Given the description of an element on the screen output the (x, y) to click on. 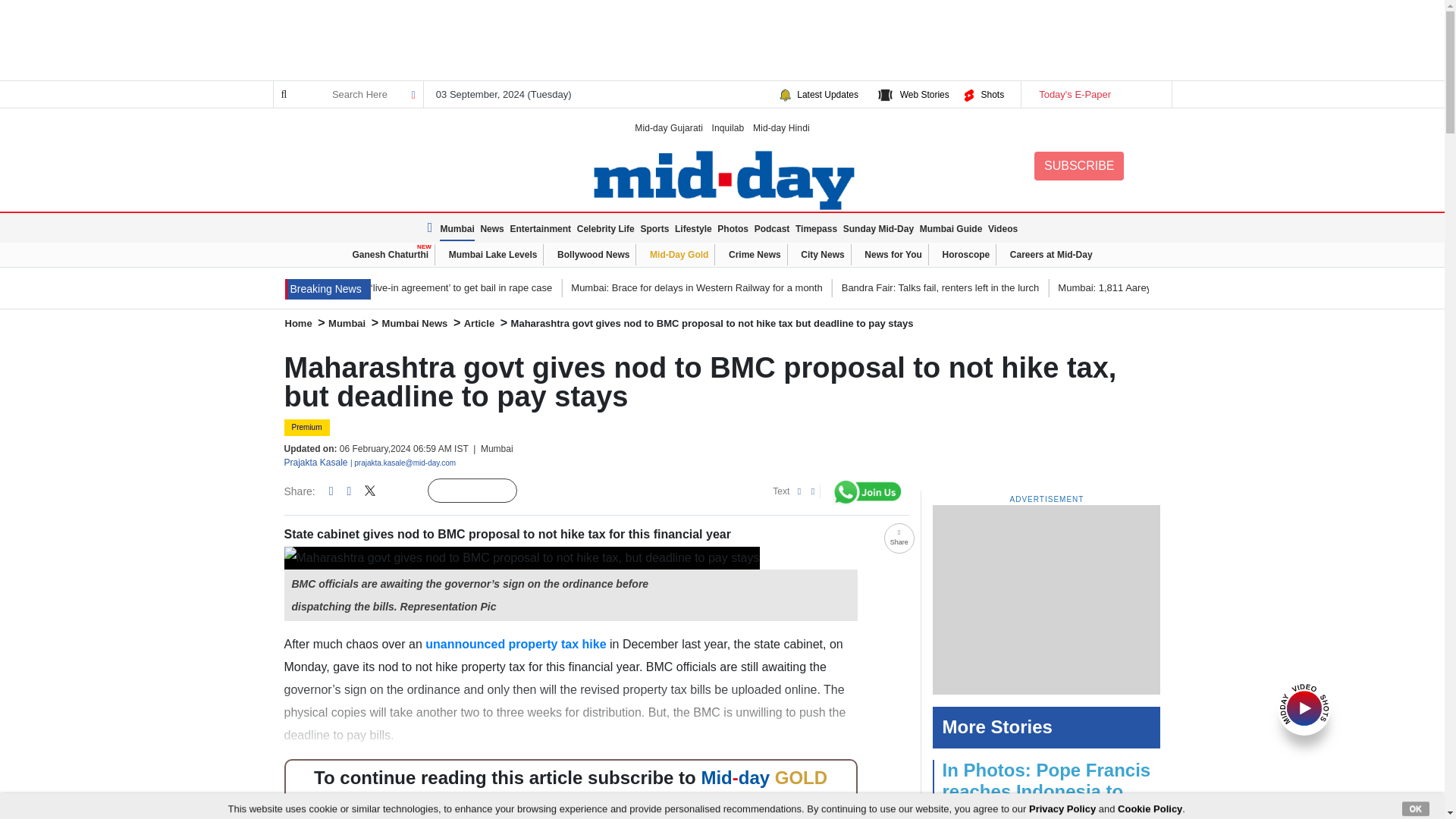
Latest News (432, 227)
Latest Updates (827, 94)
Today's E-Paper (1095, 94)
Shots (991, 94)
SUBSCRIBE (1078, 165)
Inquilab (728, 127)
Quick Reads (541, 491)
Mid-day Gujarati (668, 127)
Mid-day Hindi (780, 127)
Midday Shot Videos (1304, 706)
